Given the description of an element on the screen output the (x, y) to click on. 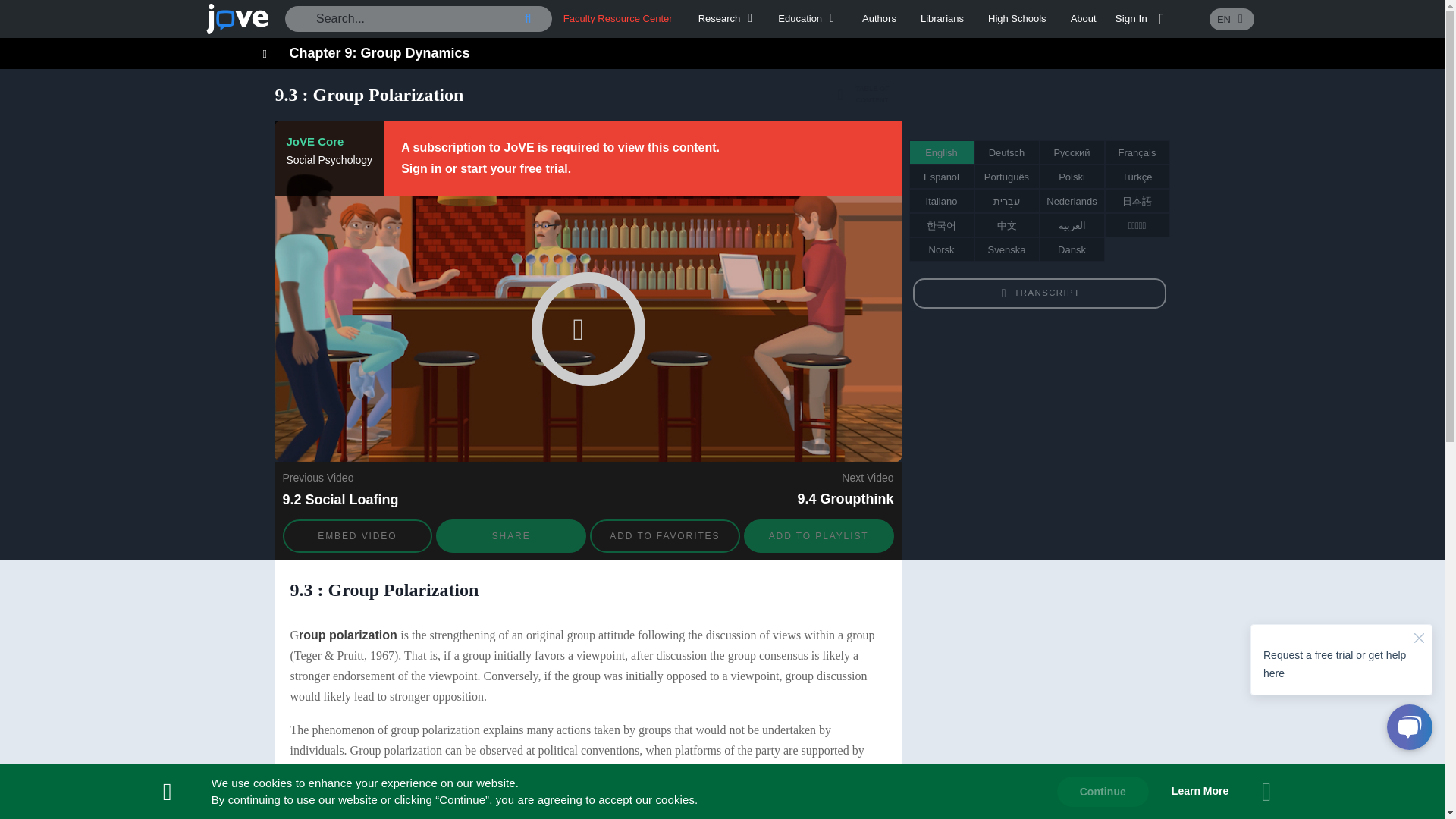
Research (727, 18)
Faculty Resource Center (617, 18)
Education (807, 18)
